Given the description of an element on the screen output the (x, y) to click on. 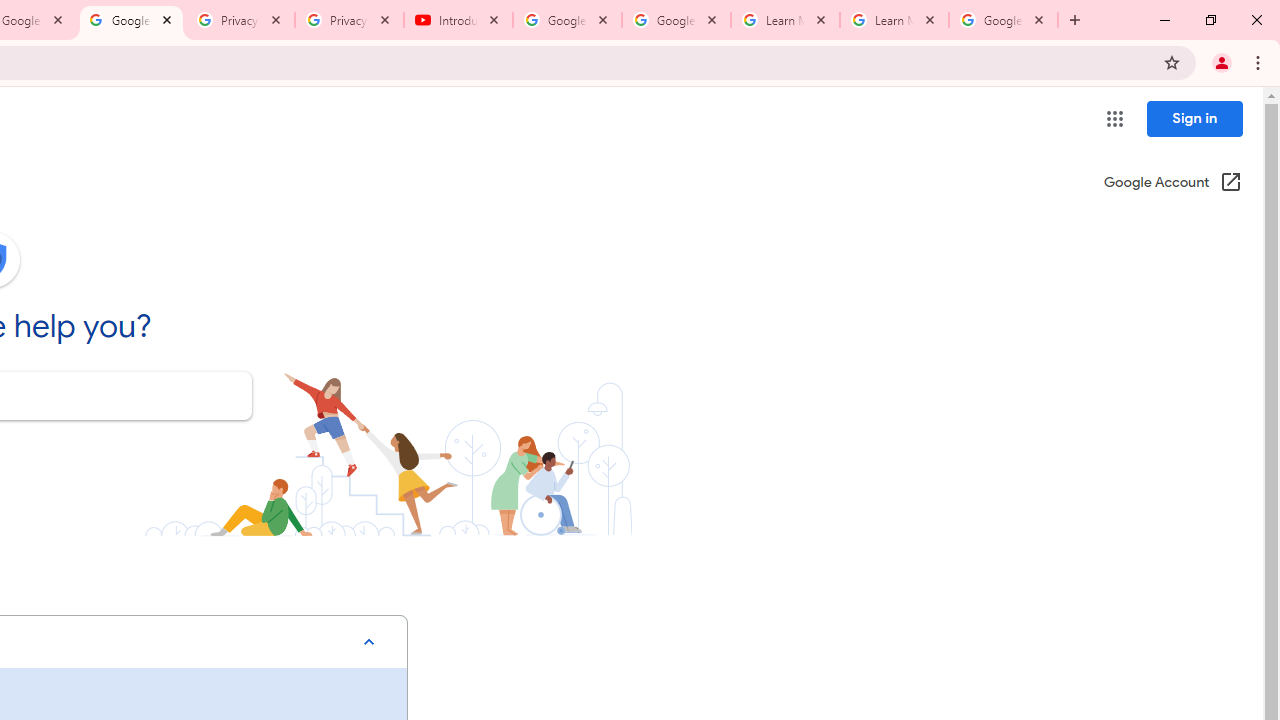
Introduction | Google Privacy Policy - YouTube (458, 20)
